Given the description of an element on the screen output the (x, y) to click on. 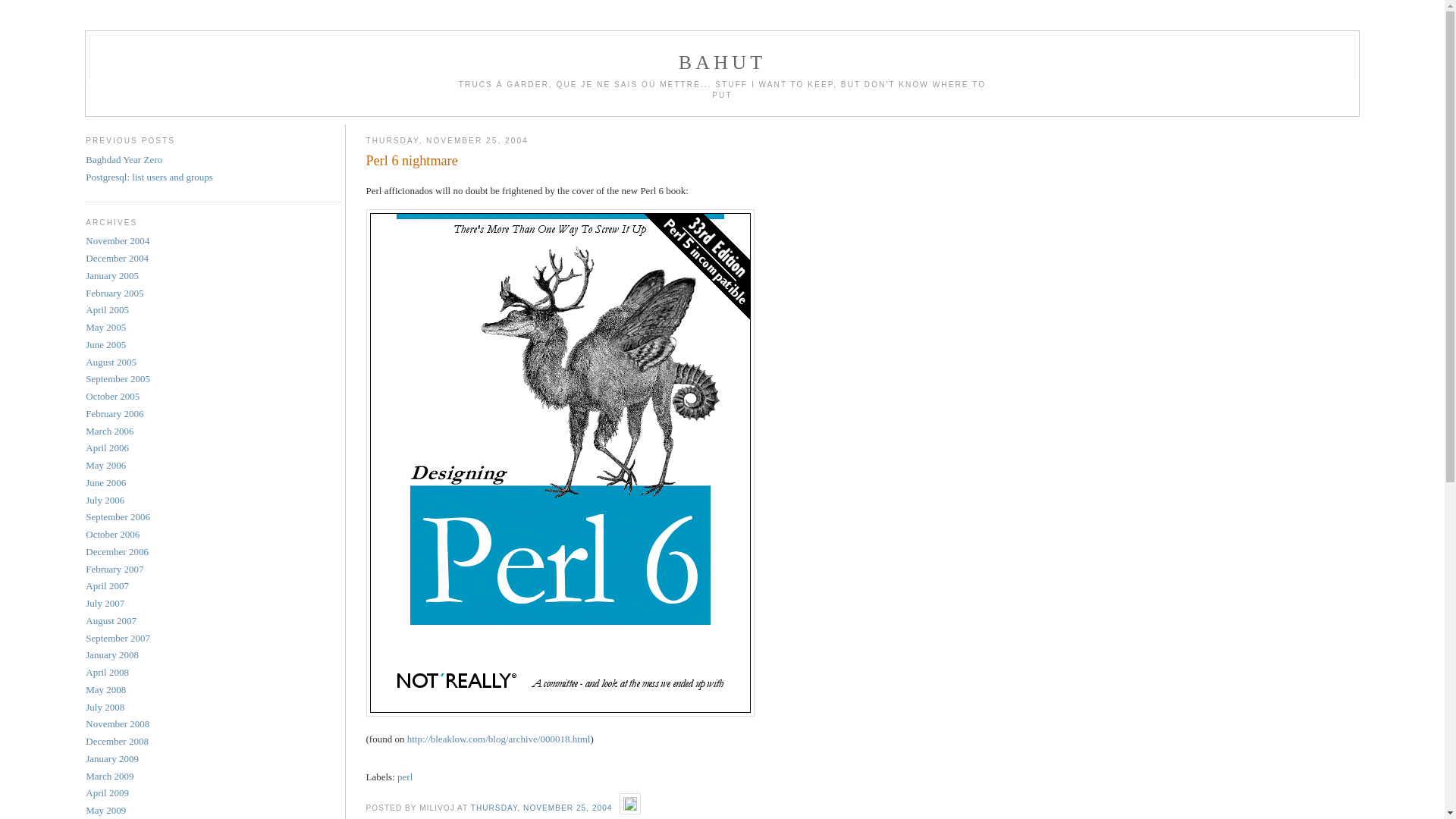
March 2006 Element type: text (109, 430)
October 2006 Element type: text (112, 533)
March 2009 Element type: text (109, 775)
June 2005 Element type: text (105, 344)
January 2008 Element type: text (111, 654)
THURSDAY, NOVEMBER 25, 2004 Element type: text (541, 807)
June 2006 Element type: text (105, 482)
September 2005 Element type: text (117, 378)
Perl 6 nightmare Element type: text (862, 160)
April 2005 Element type: text (106, 309)
November 2008 Element type: text (117, 723)
September 2006 Element type: text (117, 516)
April 2007 Element type: text (106, 585)
November 2004 Element type: text (117, 240)
July 2006 Element type: text (104, 499)
December 2008 Element type: text (116, 740)
http://bleaklow.com/blog/archive/000018.html Element type: text (498, 738)
July 2007 Element type: text (104, 602)
August 2005 Element type: text (110, 361)
April 2006 Element type: text (106, 447)
Baghdad Year Zero Element type: text (123, 159)
December 2006 Element type: text (116, 551)
BAHUT Element type: text (722, 62)
Edit Post Element type: hover (629, 806)
July 2008 Element type: text (104, 706)
May 2008 Element type: text (105, 689)
April 2009 Element type: text (106, 792)
December 2004 Element type: text (116, 257)
February 2007 Element type: text (114, 568)
September 2007 Element type: text (117, 637)
February 2005 Element type: text (114, 292)
Postgresql: list users and groups Element type: text (149, 176)
perl Element type: text (404, 776)
January 2009 Element type: text (111, 758)
August 2007 Element type: text (110, 620)
May 2009 Element type: text (105, 809)
May 2005 Element type: text (105, 326)
October 2005 Element type: text (112, 395)
January 2005 Element type: text (111, 275)
February 2006 Element type: text (114, 413)
April 2008 Element type: text (106, 671)
May 2006 Element type: text (105, 464)
